Given the description of an element on the screen output the (x, y) to click on. 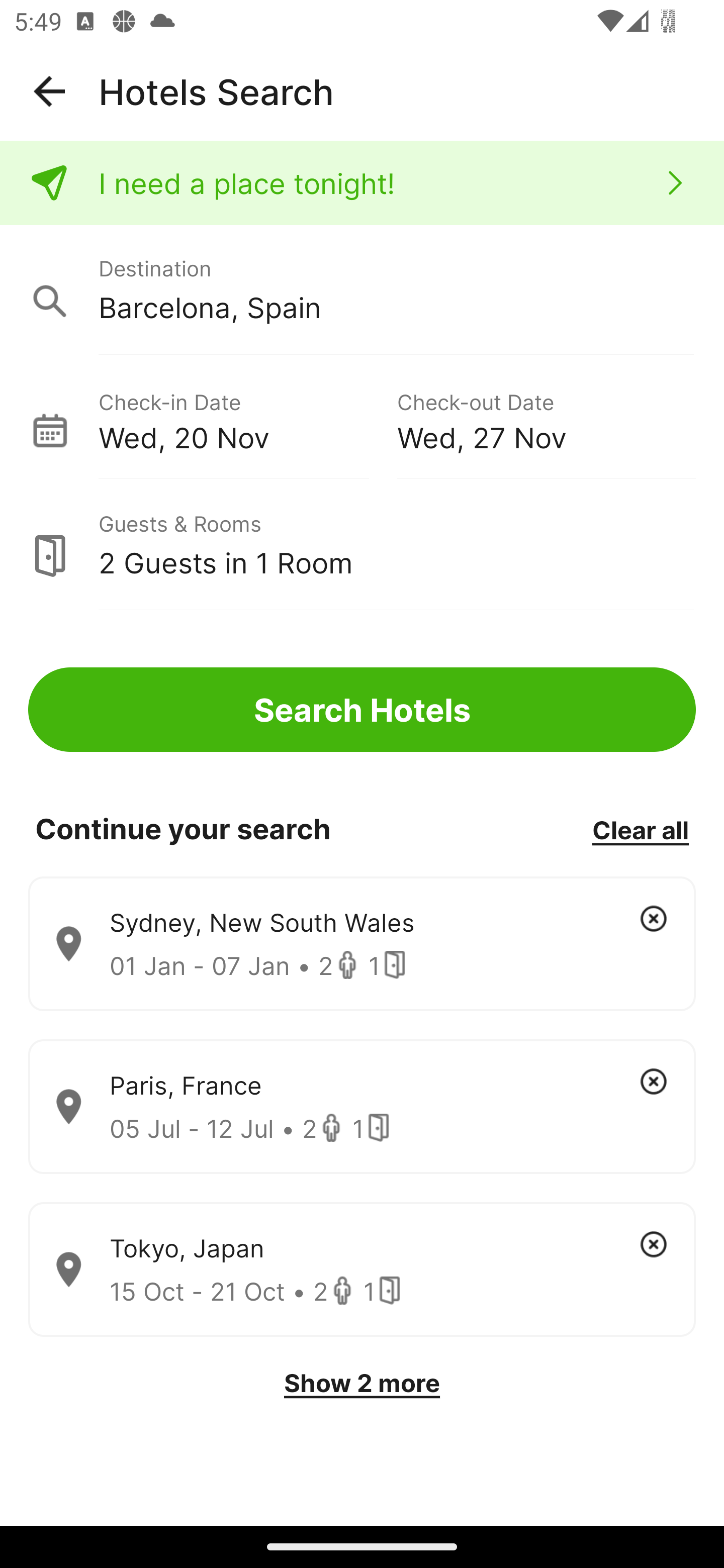
I need a place tonight! (362, 183)
Destination Barcelona, Spain (362, 290)
Check-in Date Wed, 20 Nov (247, 418)
Check-out Date Wed, 27 Nov (546, 418)
Guests & Rooms 2 Guests in 1 Room (362, 545)
Search Hotels (361, 709)
Clear all (640, 829)
Sydney, New South Wales 01 Jan - 07 Jan • 2  1  (361, 943)
Paris, France 05 Jul - 12 Jul • 2  1  (361, 1106)
Tokyo, Japan 15 Oct - 21 Oct • 2  1  (361, 1269)
Show 2 more (362, 1382)
